Given the description of an element on the screen output the (x, y) to click on. 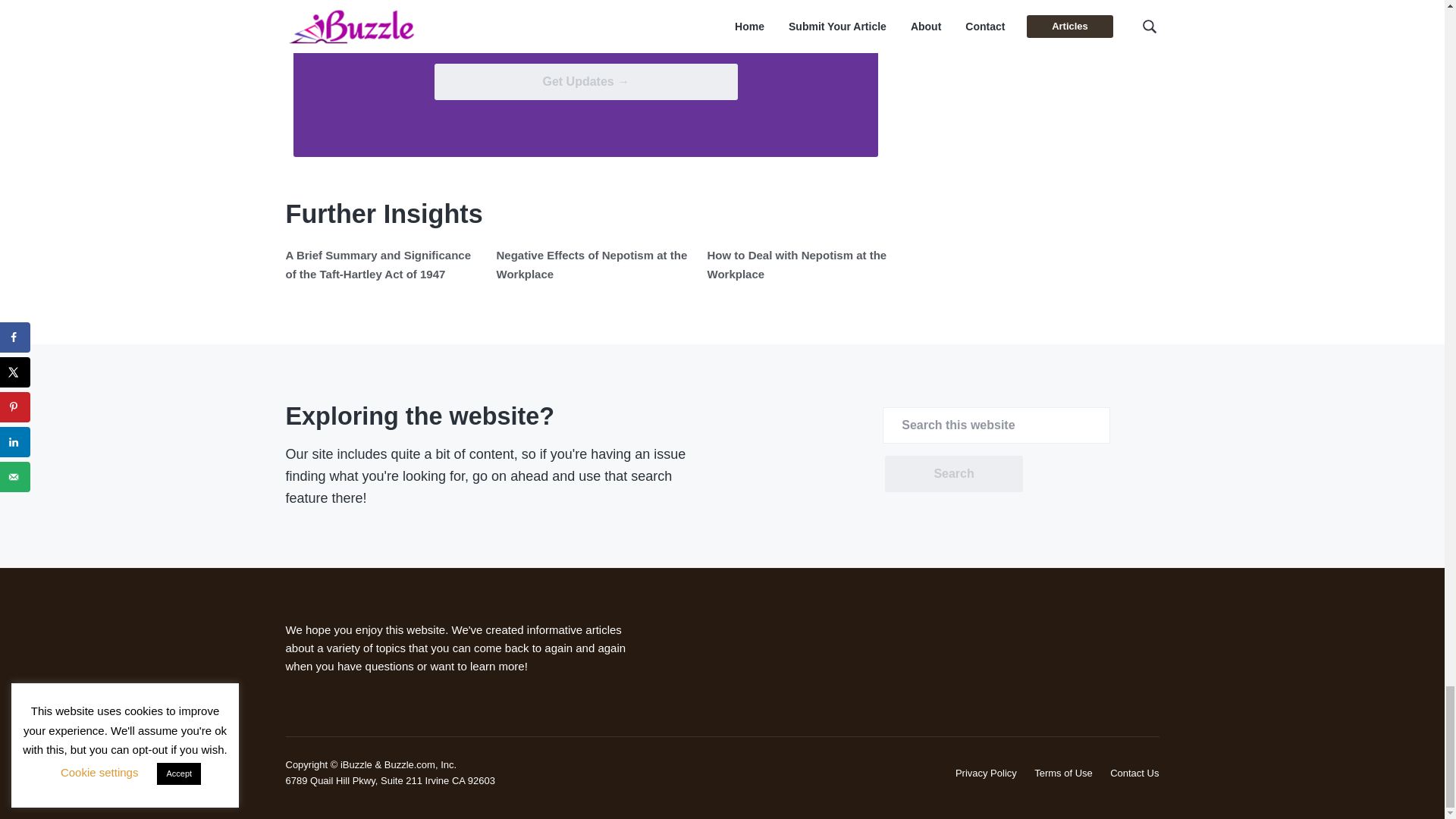
Search (953, 473)
Search (953, 473)
Negative Effects of Nepotism at the Workplace (591, 264)
Search (953, 473)
Permanent Link to How to Deal with Nepotism at the Workplace (796, 264)
Privacy Policy (985, 772)
Terms of Use (1063, 772)
How to Deal with Nepotism at the Workplace (796, 264)
